Given the description of an element on the screen output the (x, y) to click on. 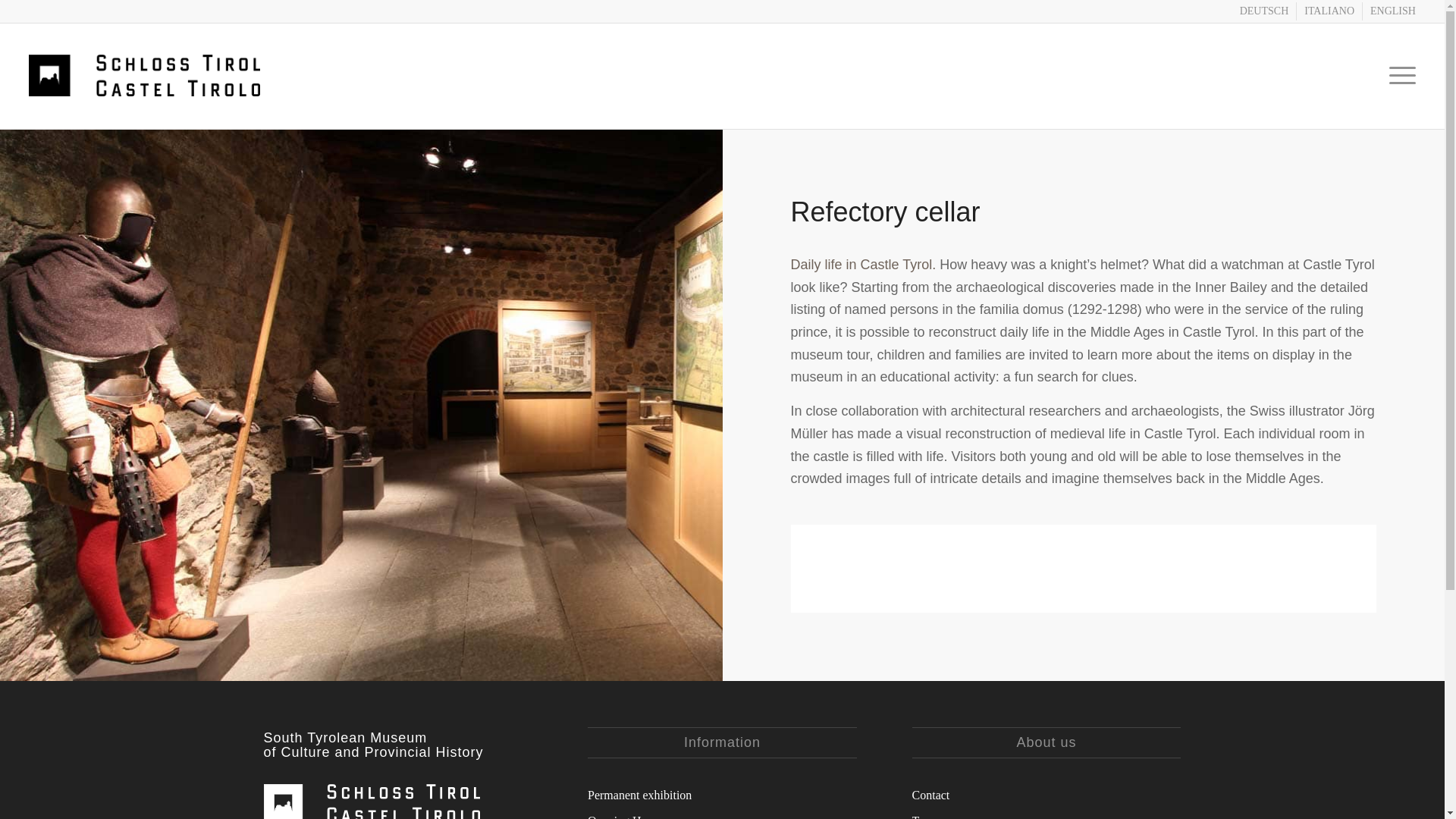
Deutsch (1264, 11)
ITALIANO (1329, 11)
English (1392, 11)
Permanent exhibition (722, 793)
Contact (1046, 793)
Opening Hours (722, 812)
ENGLISH (1392, 11)
Italiano (1329, 11)
DEUTSCH (1264, 11)
